Given the description of an element on the screen output the (x, y) to click on. 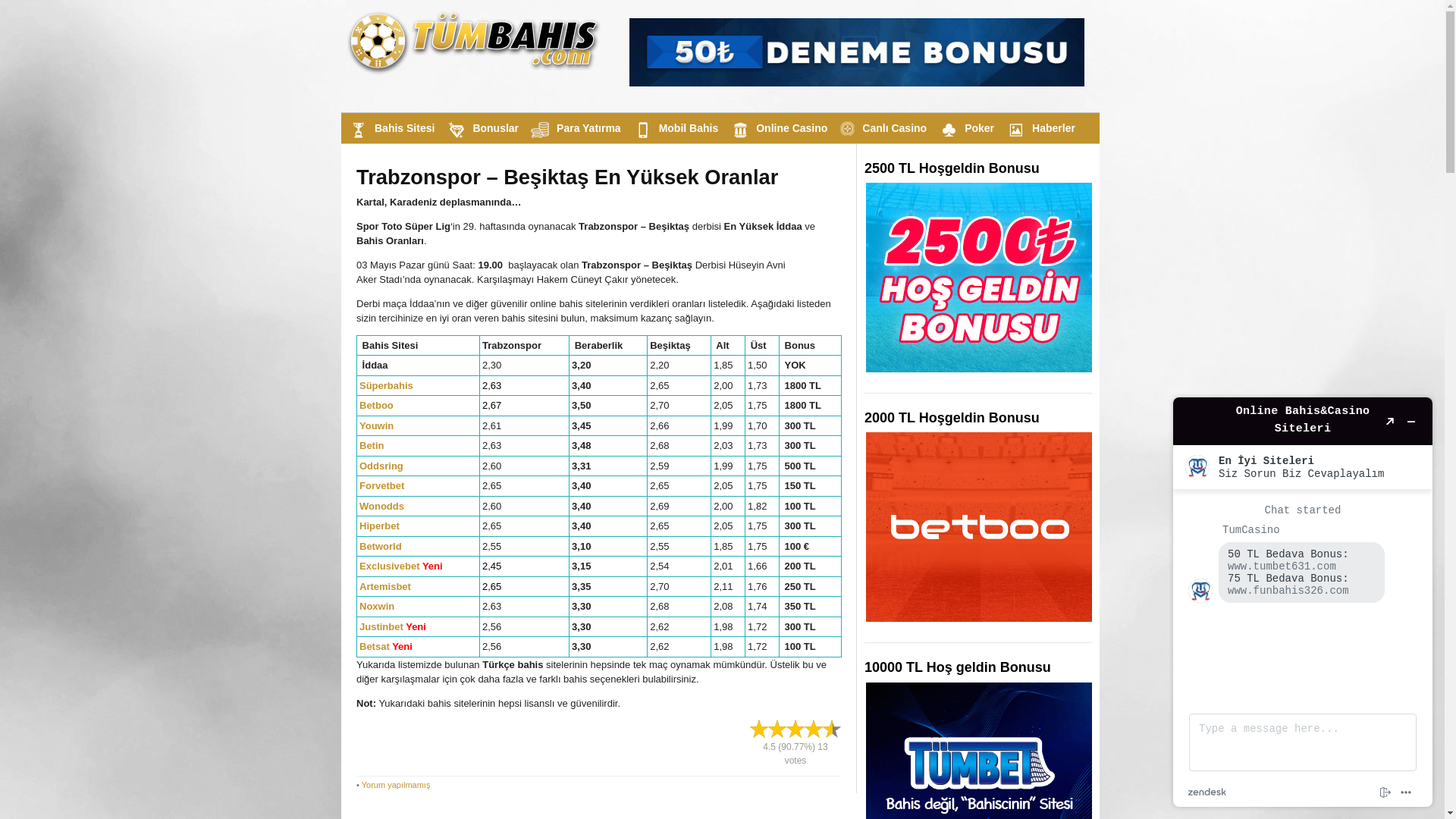
Artemisbet Element type: text (385, 586)
Betsat Element type: text (374, 646)
Wonodds Element type: text (381, 505)
Hiperbet Element type: text (379, 525)
Betworld Element type: text (380, 546)
Exclusivebet Element type: text (389, 565)
Bahis Sitesi Element type: text (390, 127)
Poker Element type: text (964, 127)
Oddsring Element type: text (381, 465)
Justinbet Element type: text (381, 626)
Betin Element type: text (371, 445)
Haberler Element type: text (1038, 127)
Bonuslar Element type: text (481, 127)
Forvetbet Element type: text (381, 485)
Noxwin Element type: text (376, 605)
Betboo Element type: text (376, 405)
Online Casino Element type: text (776, 127)
Youwin Element type: text (376, 425)
Mobil Bahis Element type: text (674, 127)
